Given the description of an element on the screen output the (x, y) to click on. 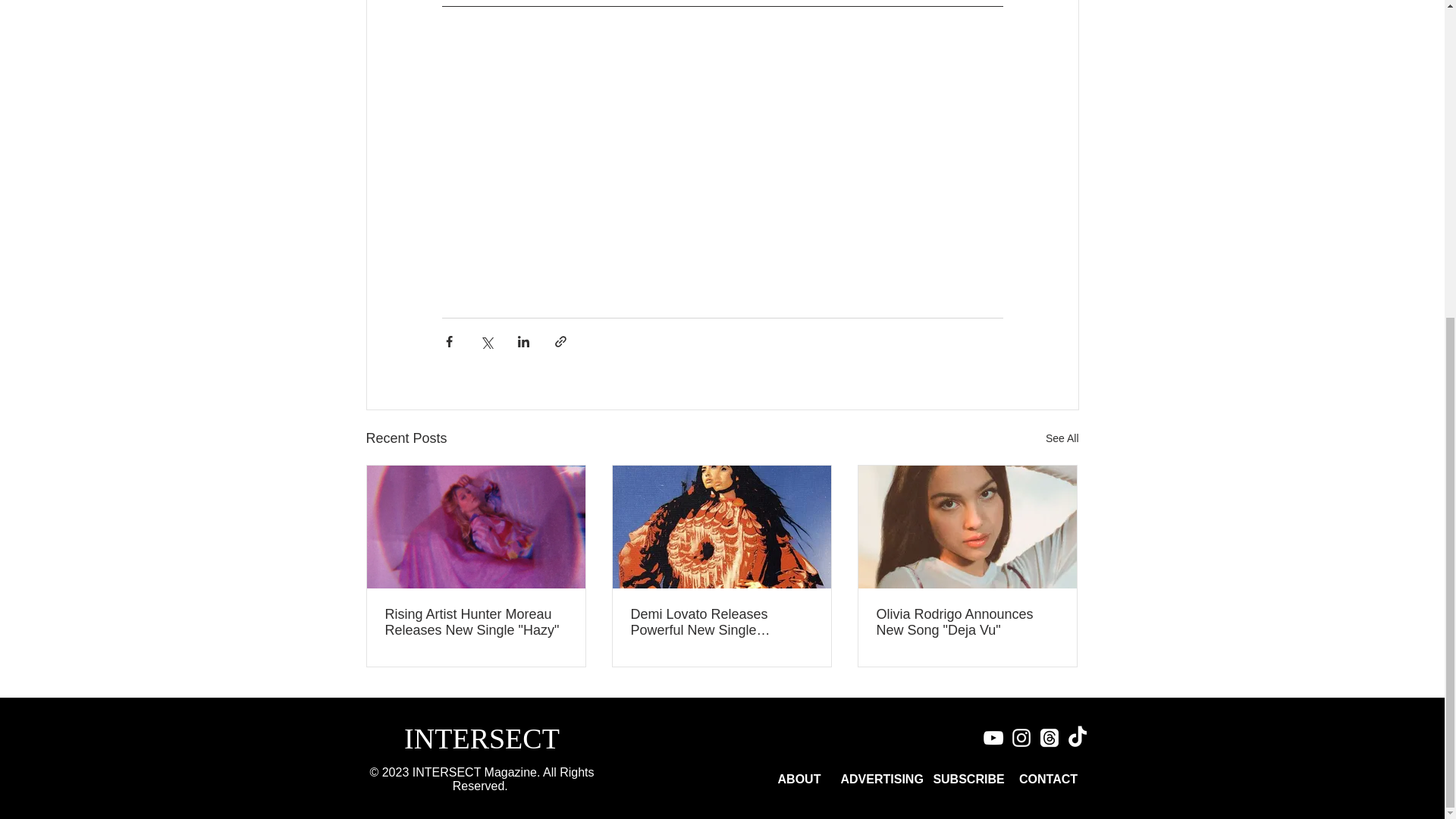
Olivia Rodrigo Announces New Song "Deja Vu" (967, 622)
CONTACT (1048, 779)
Rising Artist Hunter Moreau Releases New Single "Hazy" (476, 622)
ADVERTISING (881, 779)
ABOUT (799, 779)
SUBSCRIBE (968, 779)
See All (1061, 438)
